Given the description of an element on the screen output the (x, y) to click on. 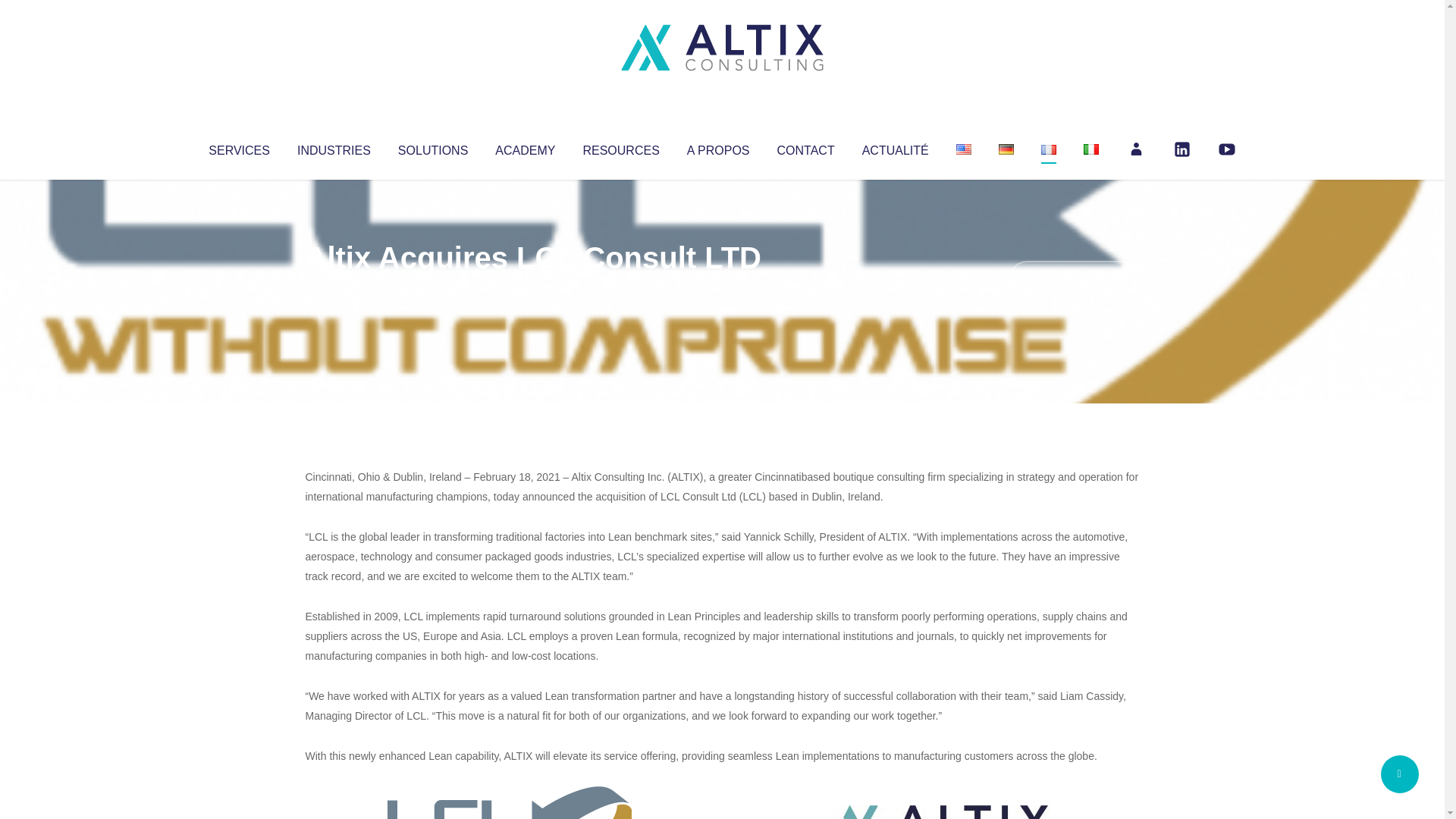
SERVICES (238, 146)
Altix (333, 287)
RESOURCES (620, 146)
Uncategorized (530, 287)
INDUSTRIES (334, 146)
SOLUTIONS (432, 146)
No Comments (1073, 278)
A PROPOS (718, 146)
Articles par Altix (333, 287)
ACADEMY (524, 146)
